Given the description of an element on the screen output the (x, y) to click on. 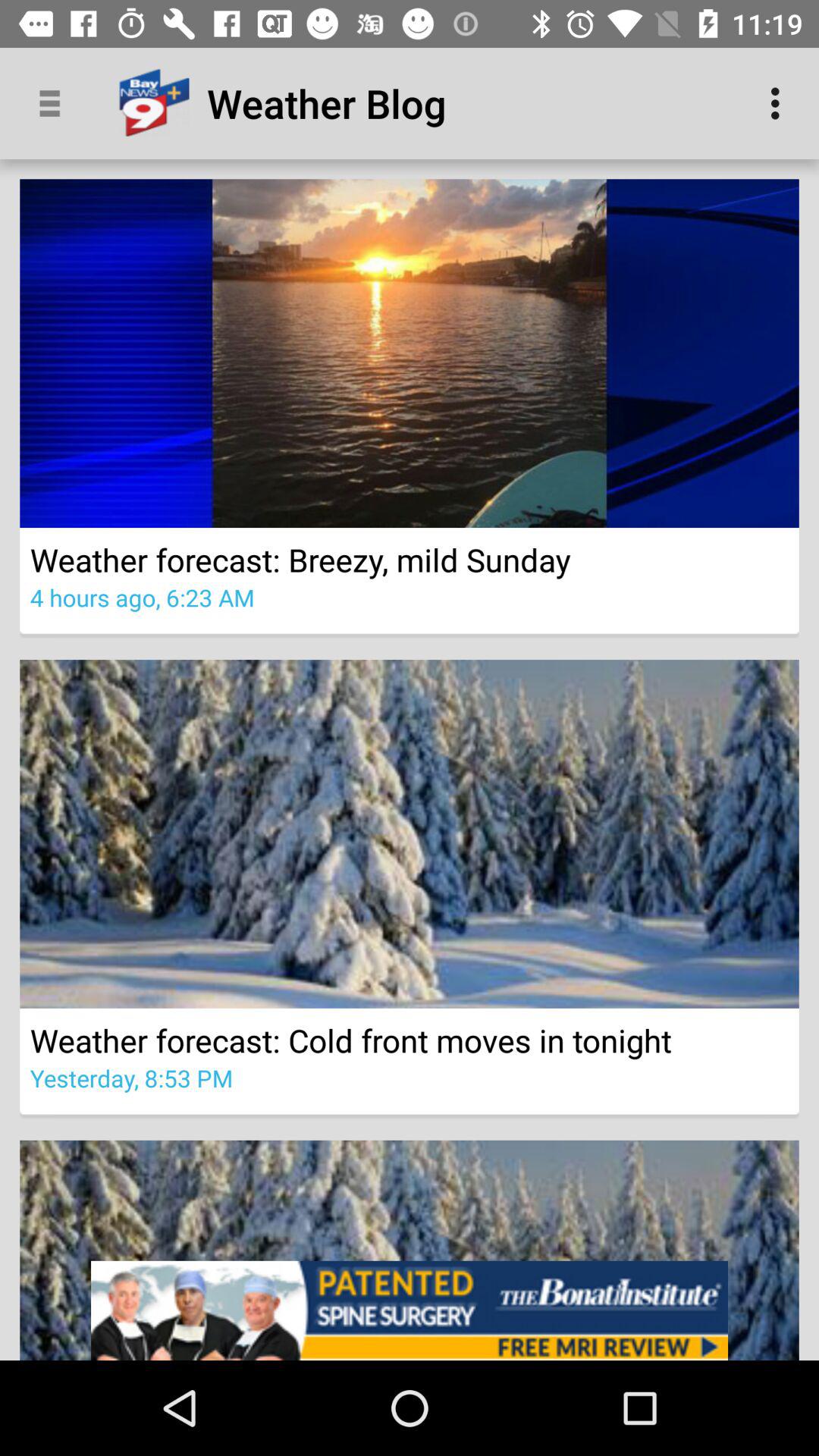
click the icon to the right of weather blog (779, 103)
